Given the description of an element on the screen output the (x, y) to click on. 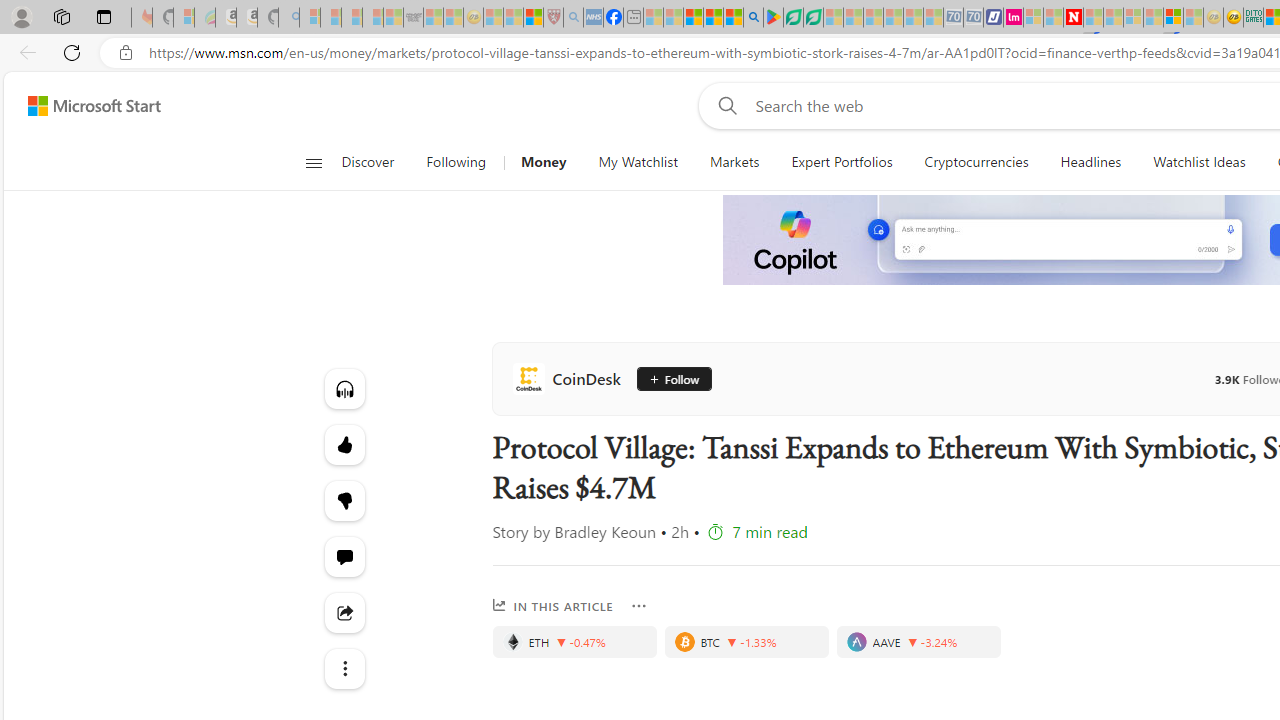
Price decrease (912, 642)
Markets (734, 162)
Aave (856, 642)
ETH, Ethereum. Price is 2,623.15. Decreased by -0.47% (573, 641)
Microsoft Word - consumer-privacy address update 2.2021 (813, 17)
Watchlist Ideas (1199, 162)
